Given the description of an element on the screen output the (x, y) to click on. 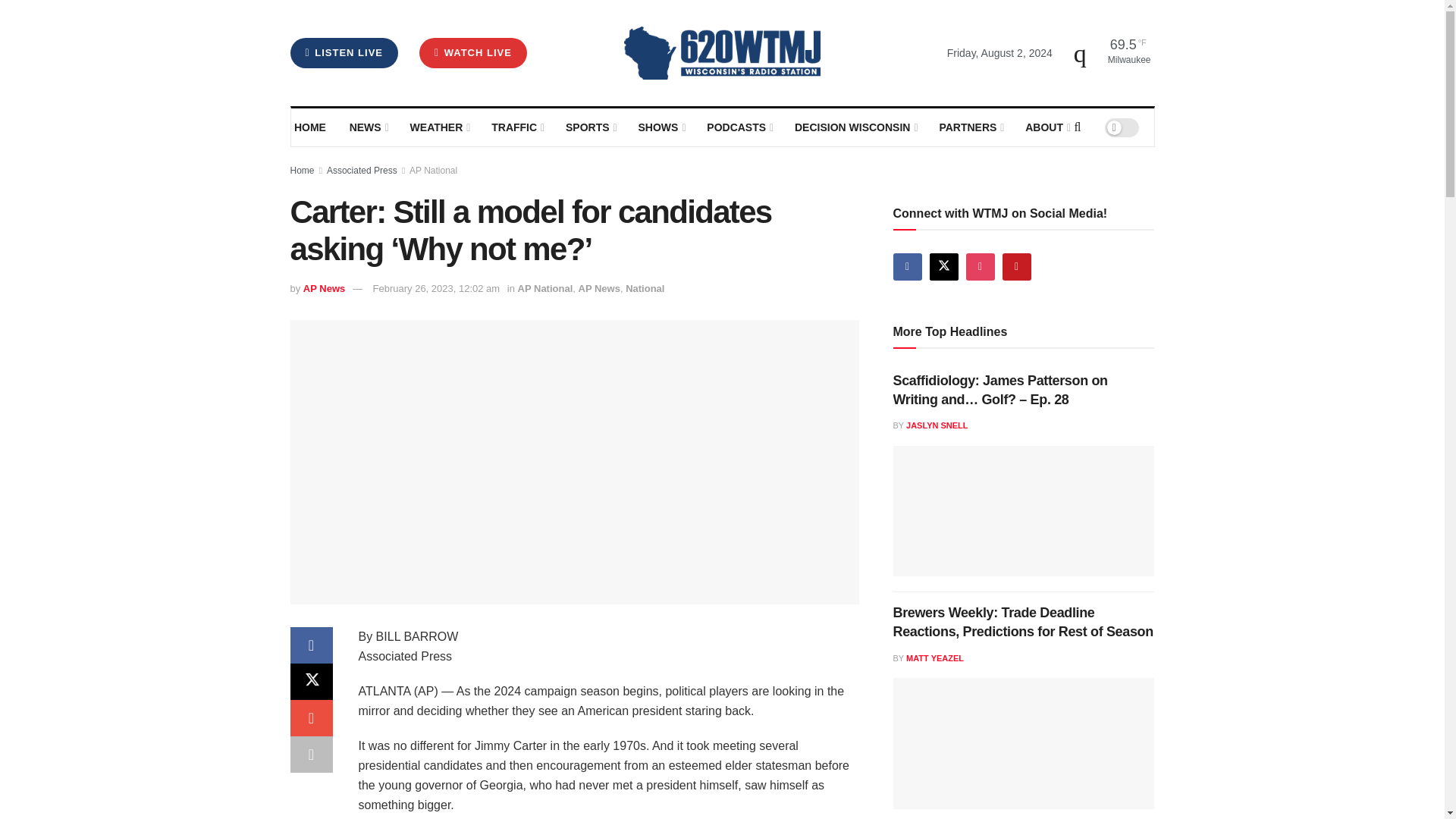
WEATHER (438, 127)
HOME (310, 127)
TRAFFIC (516, 127)
LISTEN LIVE (343, 52)
WATCH LIVE (473, 52)
NEWS (368, 127)
SPORTS (589, 127)
